Given the description of an element on the screen output the (x, y) to click on. 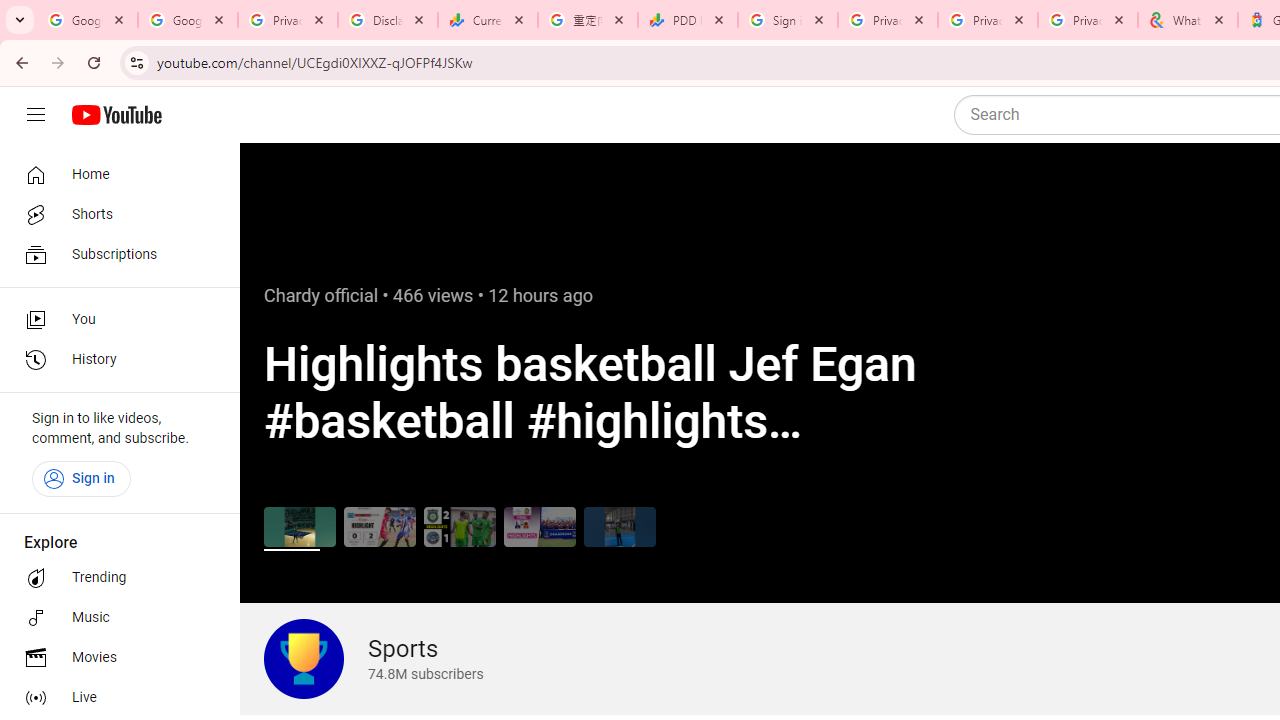
Sign in - Google Accounts (788, 20)
Bidanasi Club vs Sports Odisha | Match Highlights (380, 526)
Live (113, 697)
PDD Holdings Inc - ADR (PDD) Price & News - Google Finance (687, 20)
Guide (35, 115)
Google Workspace Admin Community (87, 20)
